Given the description of an element on the screen output the (x, y) to click on. 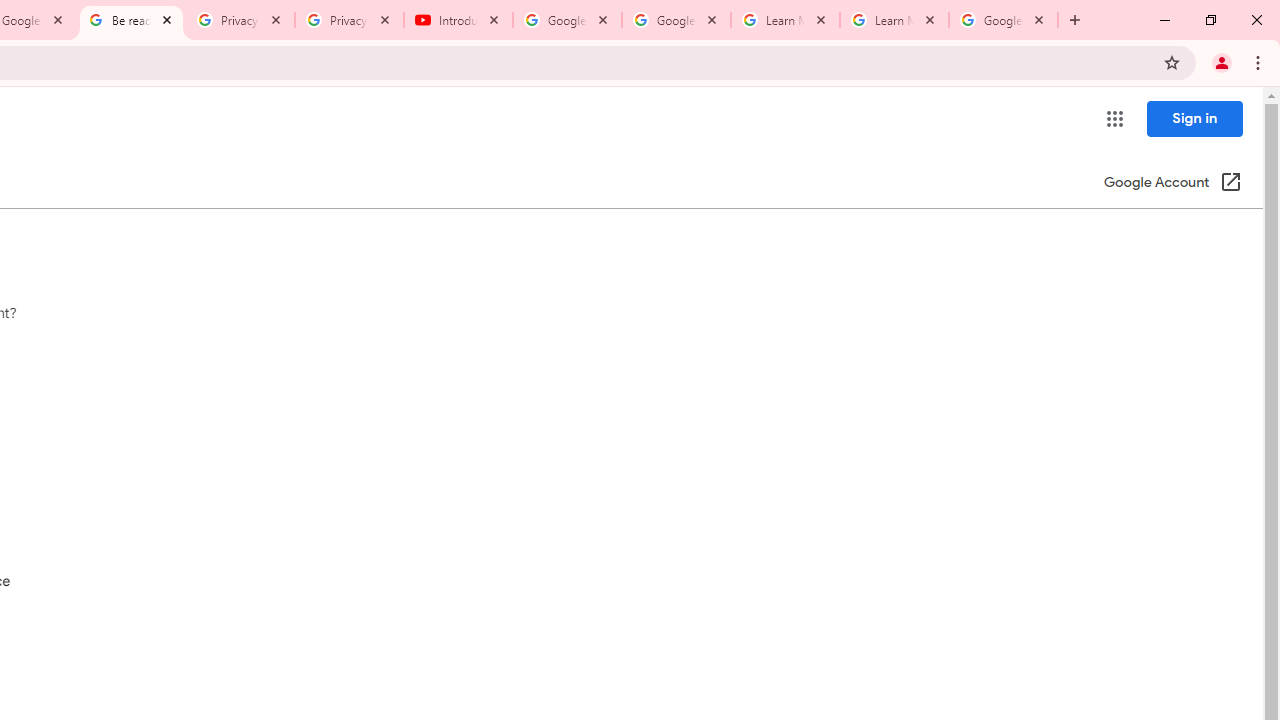
Google apps (1114, 118)
